Given the description of an element on the screen output the (x, y) to click on. 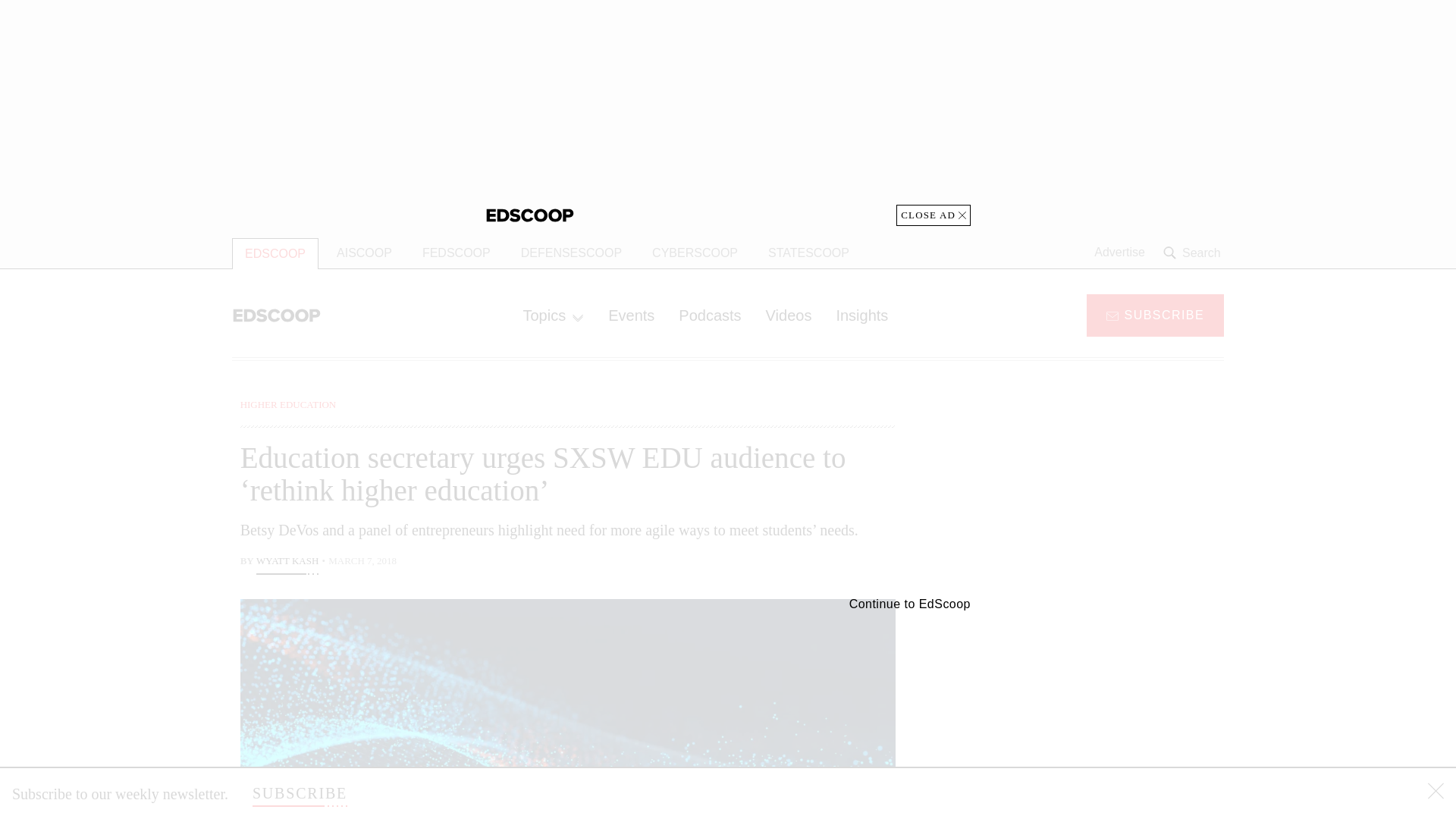
Advertise (1119, 252)
Podcasts (709, 315)
DEFENSESCOOP (570, 253)
3rd party ad content (1101, 705)
Videos (789, 315)
FEDSCOOP (456, 253)
EDSCOOP (274, 253)
SUBSCRIBE (299, 793)
HIGHER EDUCATION (288, 404)
3rd party ad content (1101, 492)
SUBSCRIBE (1155, 314)
Events (630, 315)
STATESCOOP (808, 253)
